Given the description of an element on the screen output the (x, y) to click on. 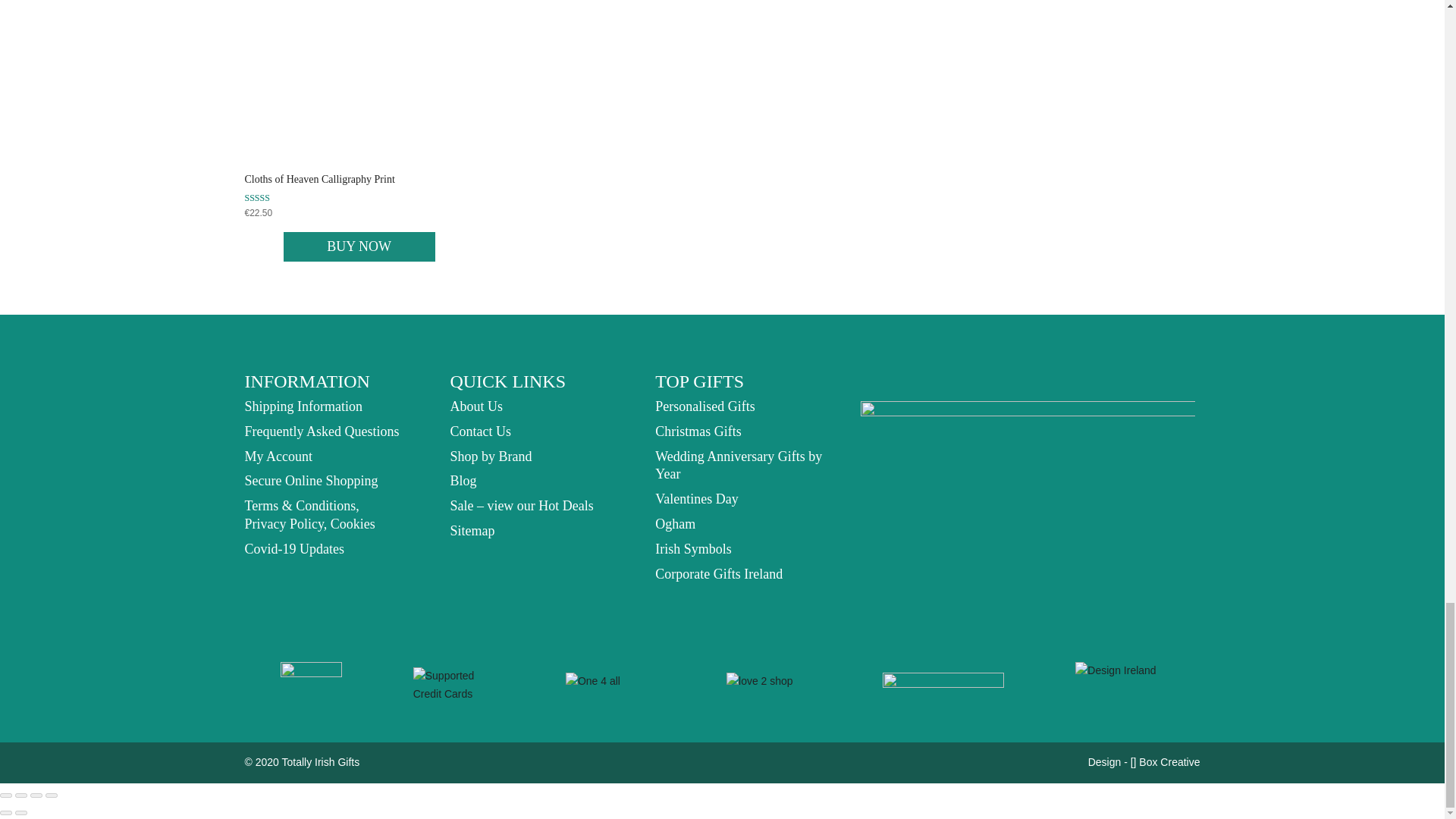
Covid 19 Updates (293, 548)
Totally Irish Gifts Blog (462, 480)
Returns, Orders Queries, Billing and Pricing (321, 431)
Totally Irish Gifts Contact Us (480, 431)
My Account Totally Irish Gifts (278, 456)
About Us Totally Irish Gifts (475, 406)
Secure online shopping (310, 480)
Hot Deals Totally Irish Gifts (520, 505)
Terms and Conditions and Privacy Policy (309, 514)
Shipping Information Totally Irish Gifts (303, 406)
